Given the description of an element on the screen output the (x, y) to click on. 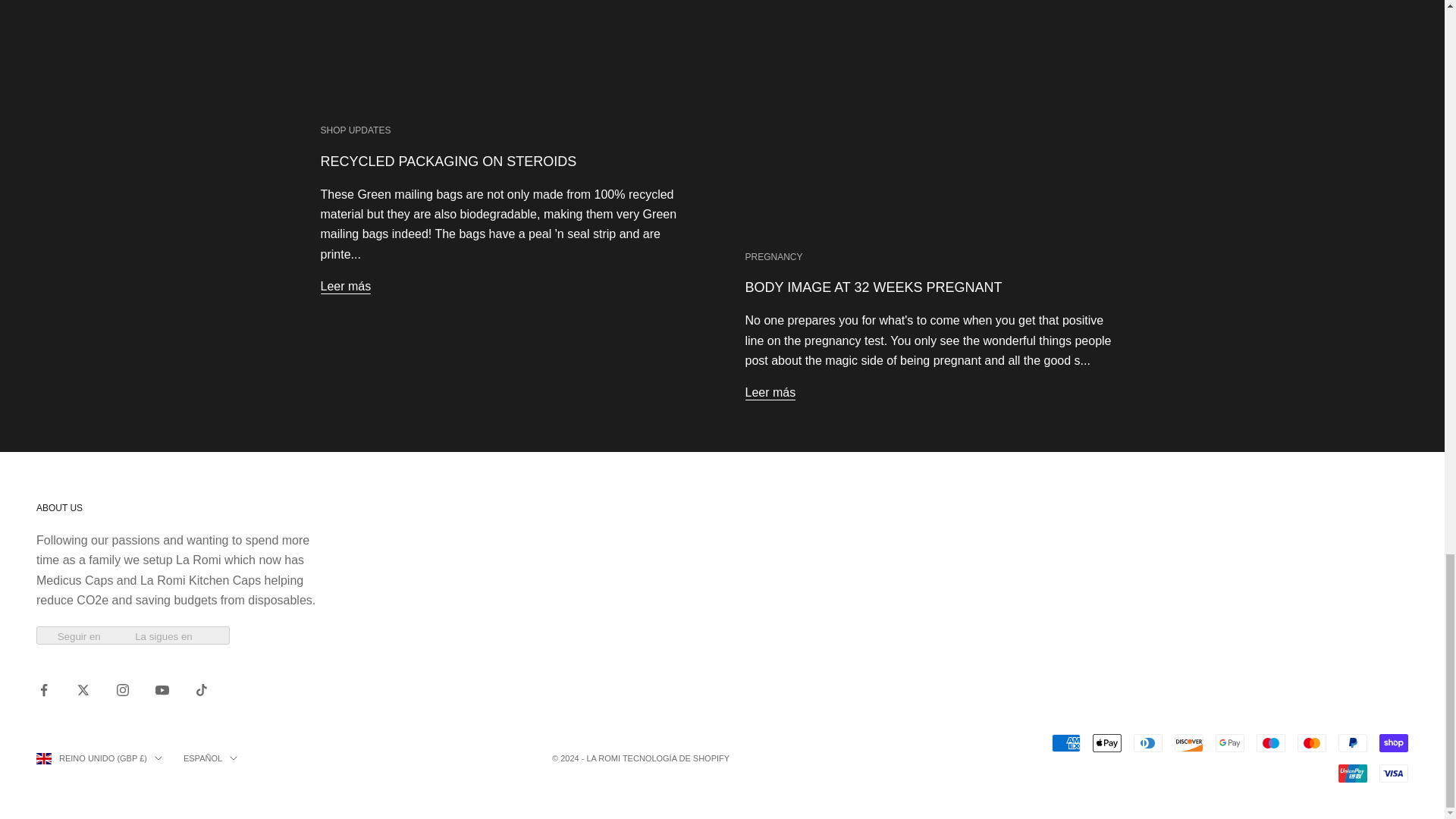
PREGNANCY (773, 256)
RECYCLED PACKAGING ON STEROIDS (448, 160)
BODY IMAGE AT 32 WEEKS PREGNANT (872, 287)
SHOP UPDATES (355, 130)
